Given the description of an element on the screen output the (x, y) to click on. 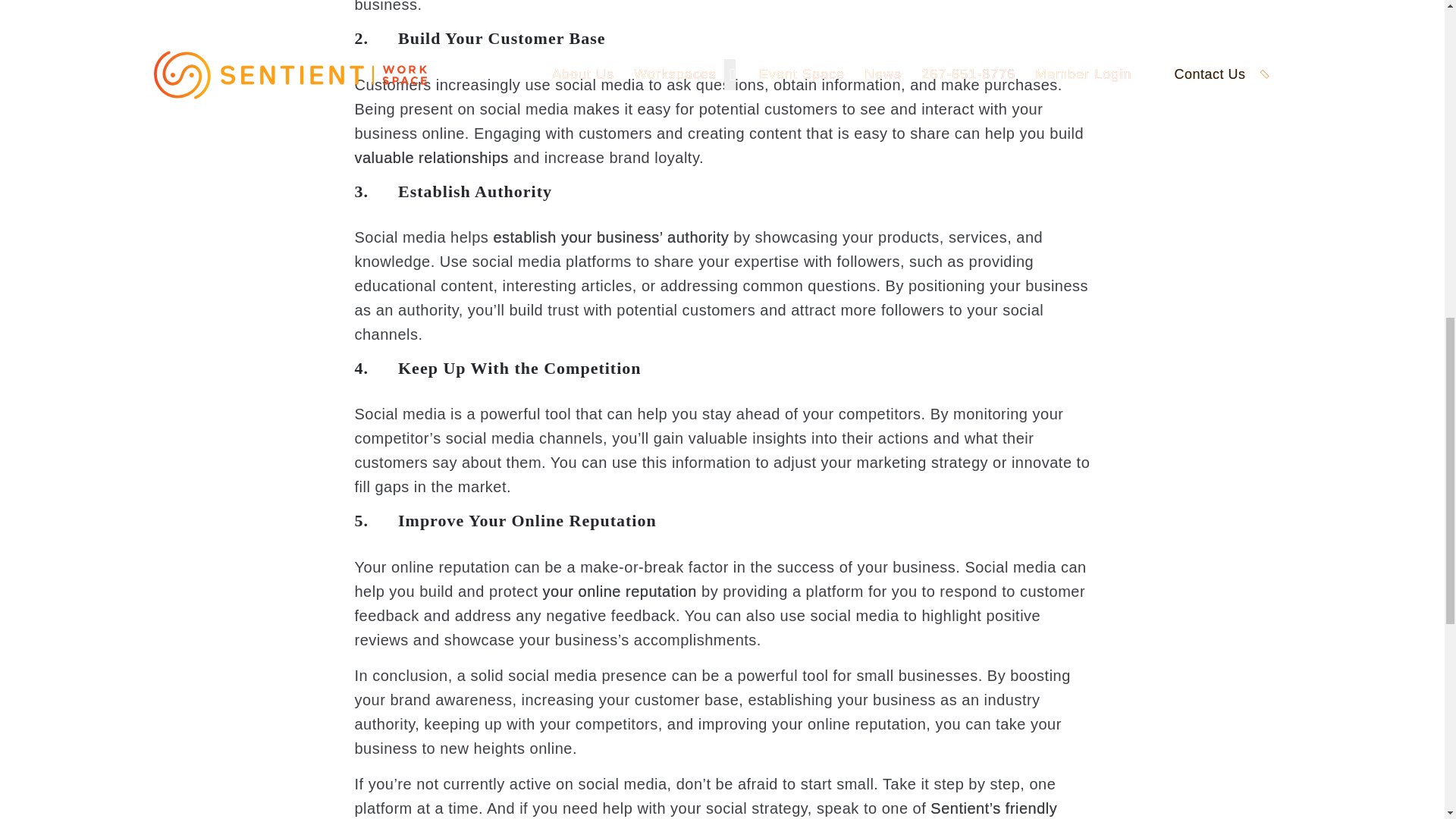
valuable relationships (431, 157)
your online reputation (620, 591)
